Given the description of an element on the screen output the (x, y) to click on. 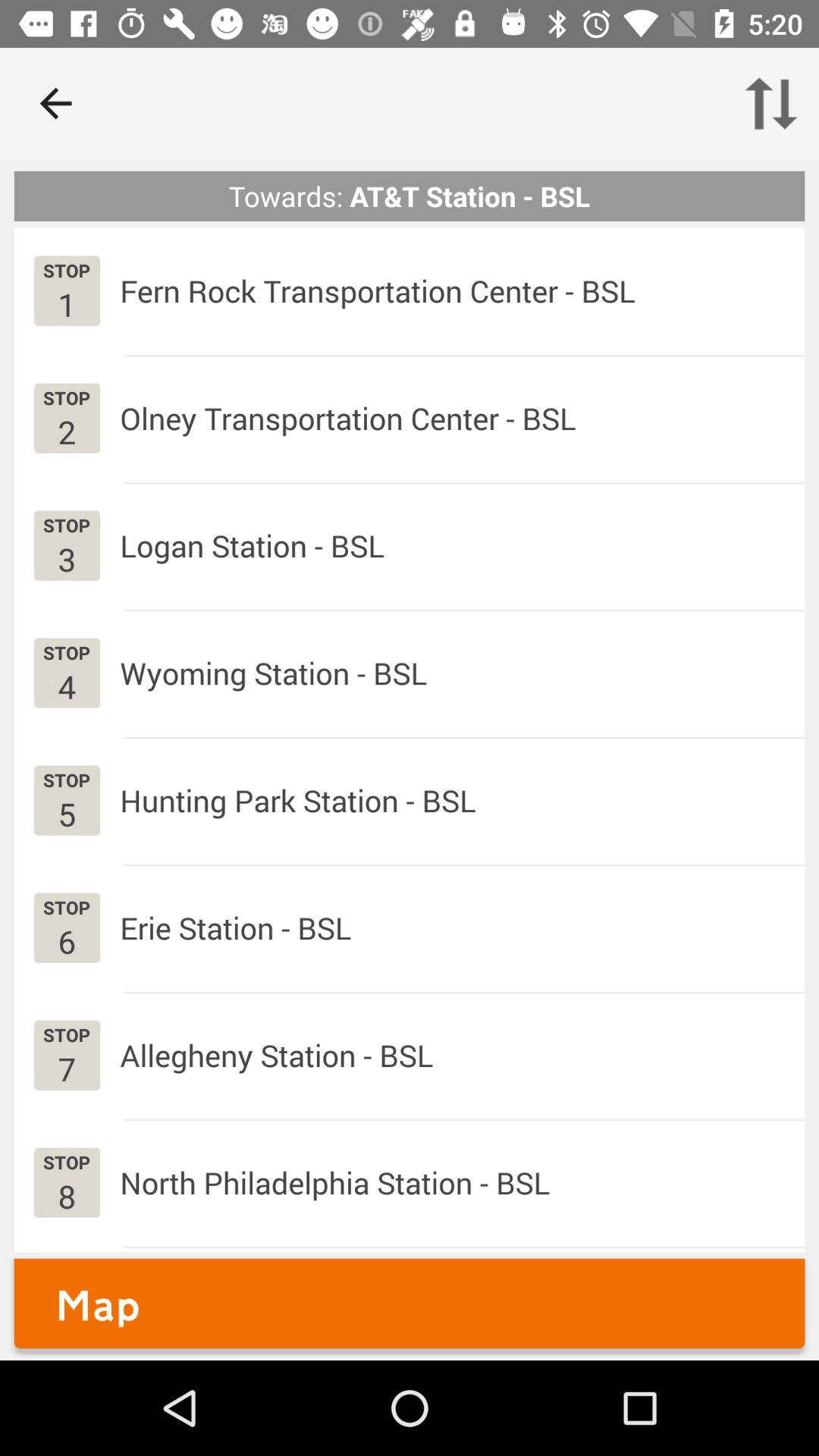
click app below stop app (66, 686)
